Given the description of an element on the screen output the (x, y) to click on. 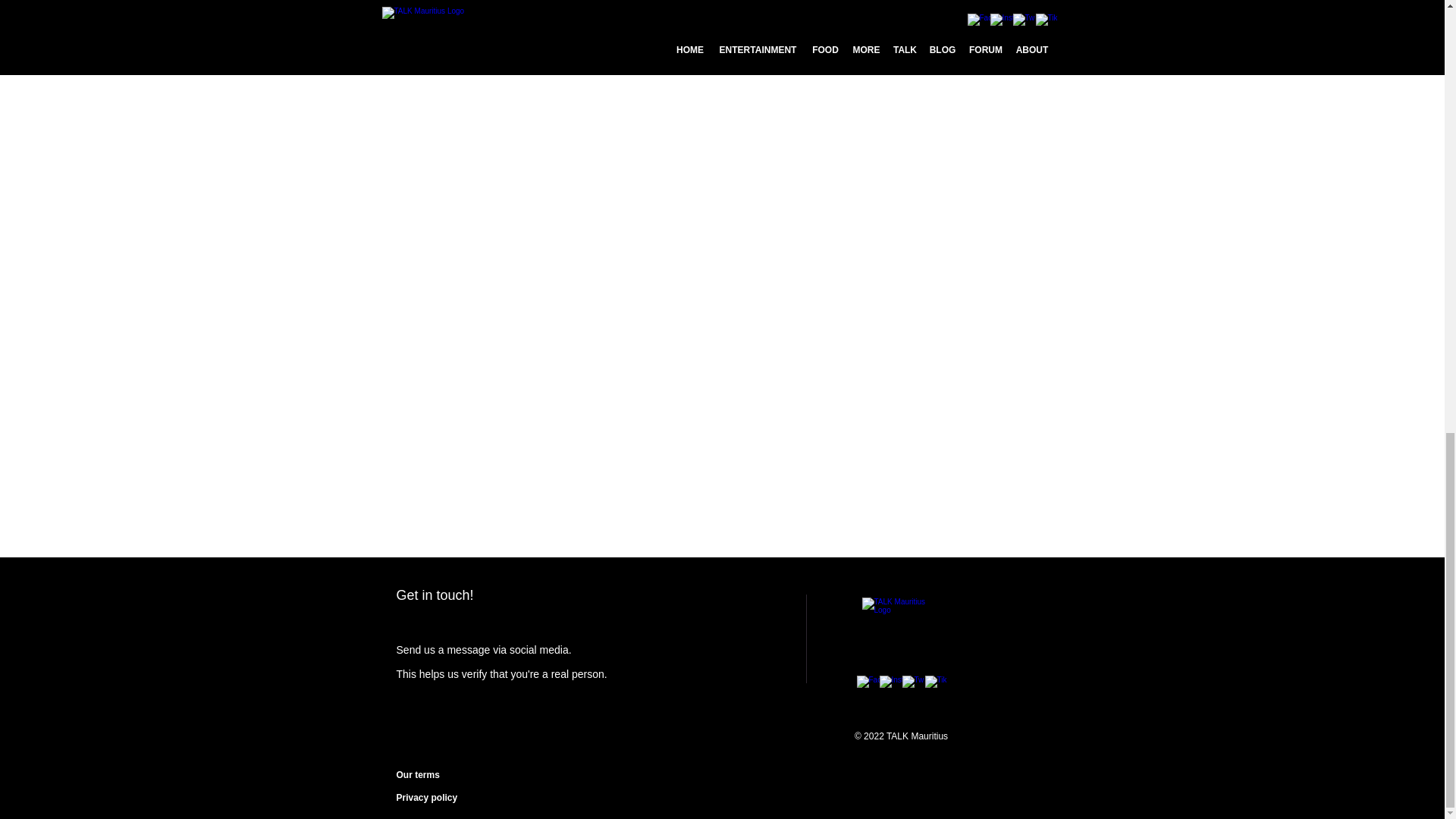
Our terms (417, 774)
S (399, 649)
Privacy policy (426, 797)
